Given the description of an element on the screen output the (x, y) to click on. 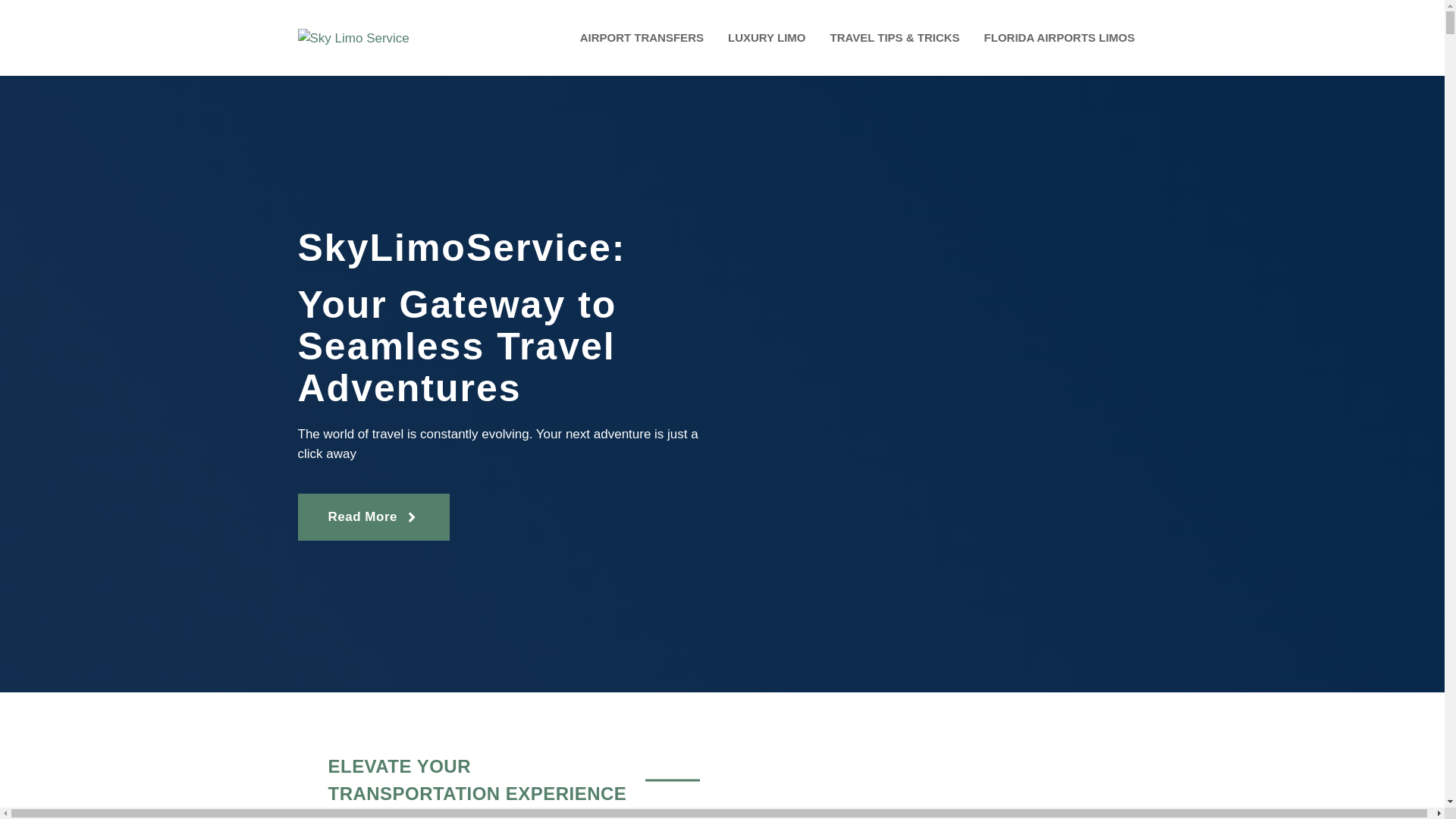
LUXURY LIMO (767, 37)
FLORIDA AIRPORTS LIMOS (1059, 37)
AIRPORT TRANSFERS (641, 37)
Read More (372, 516)
